Given the description of an element on the screen output the (x, y) to click on. 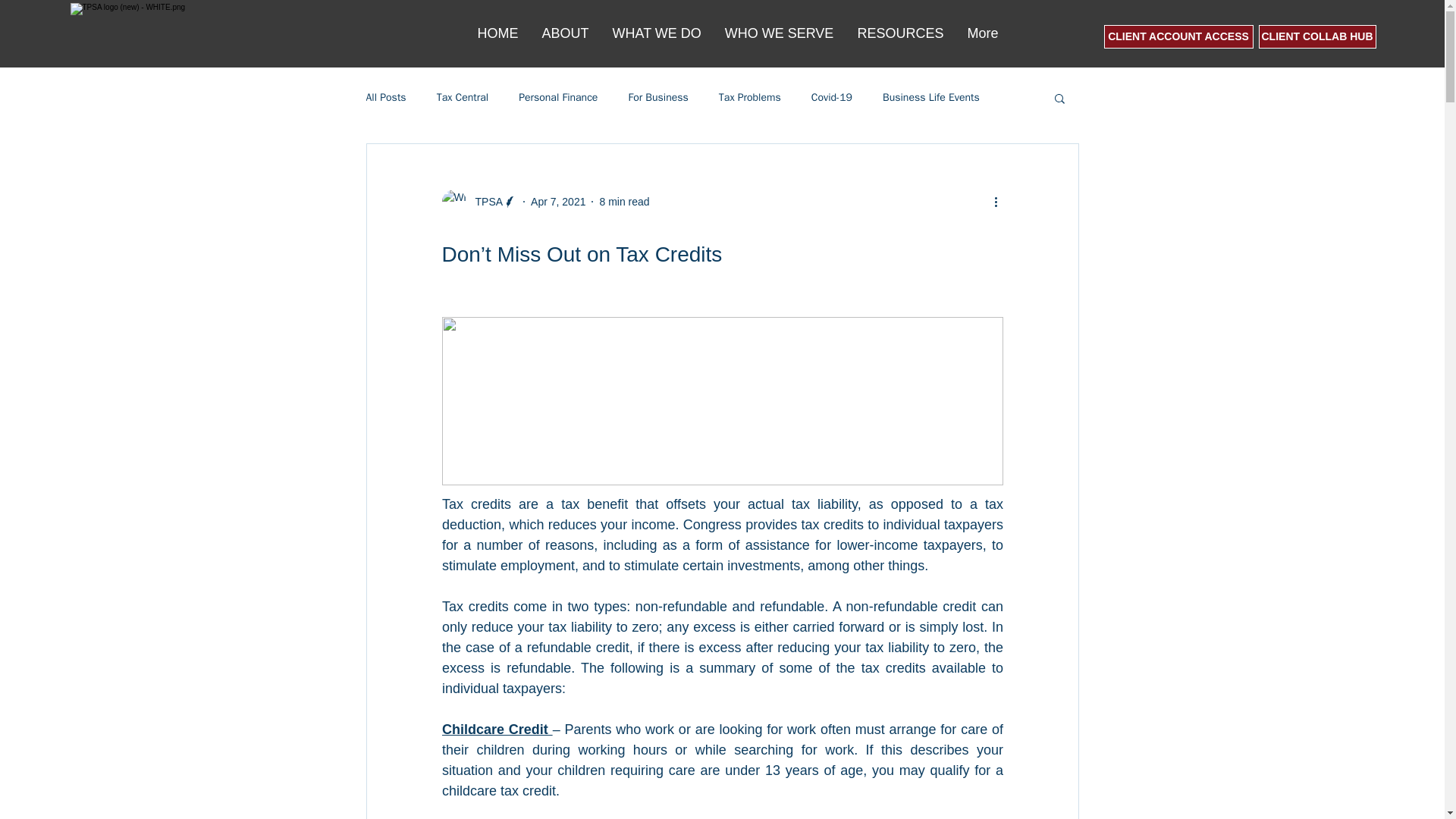
Covid-19 (830, 97)
HOME (497, 33)
CLIENT COLLAB HUB (1317, 36)
All Posts (385, 97)
Tax Problems (749, 97)
For Business (657, 97)
CLIENT ACCOUNT ACCESS (1178, 36)
TPSA (483, 201)
Business Life Events (930, 97)
TPSA (478, 201)
